Given the description of an element on the screen output the (x, y) to click on. 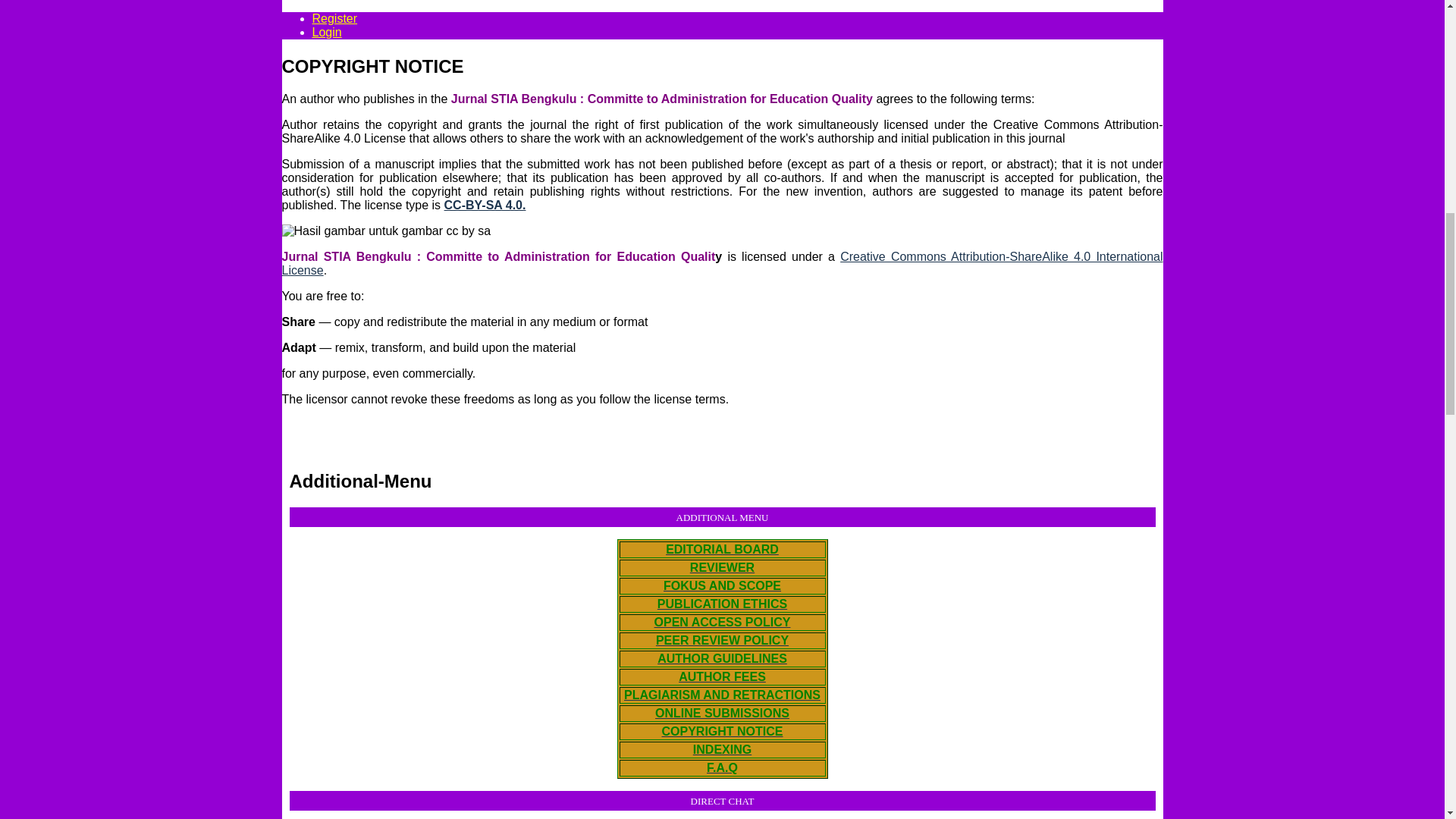
PUBLICATION ETHICS (722, 603)
COPYRIGHT NOTICE (722, 730)
F.A.Q (722, 767)
ONLINE SUBMISSIONS (722, 712)
PEER REVIEW POLICY (722, 640)
REVIEWER (722, 567)
OPEN ACCESS POLICY (721, 621)
CC-BY-SA 4.0. (484, 205)
PLAGIARISM AND RETRACTIONS (722, 694)
